Given the description of an element on the screen output the (x, y) to click on. 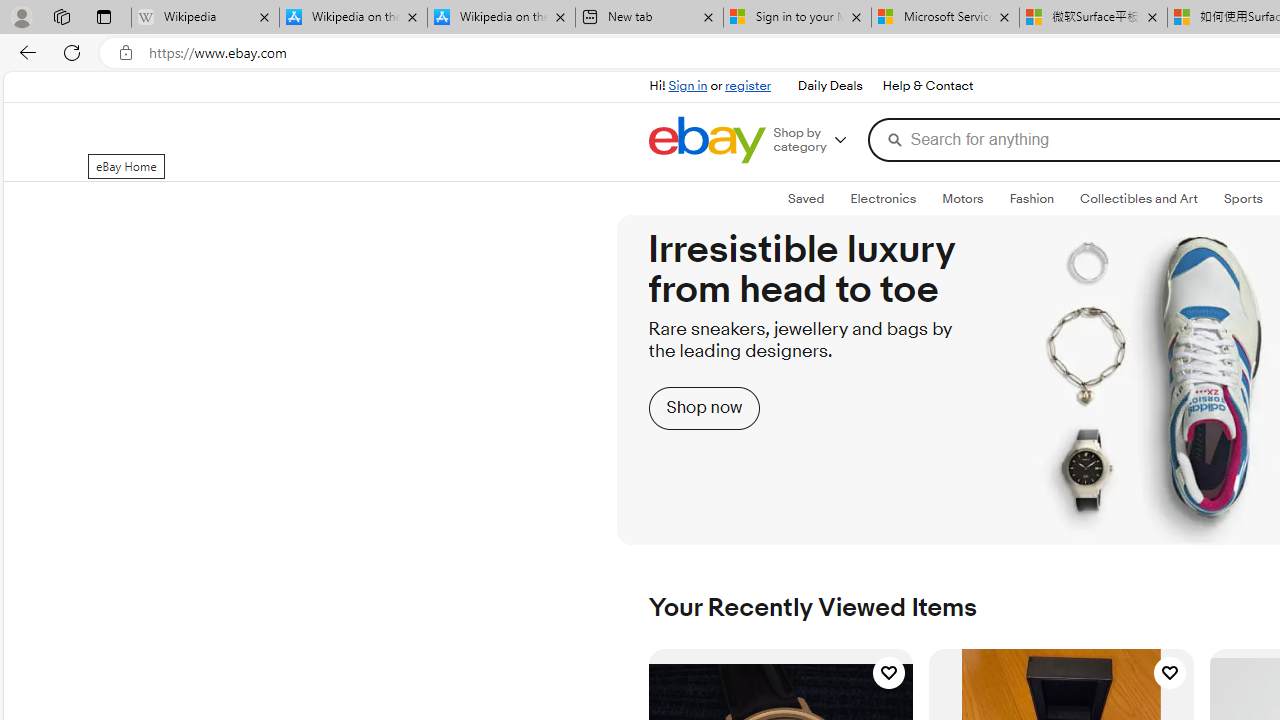
eBay Home (706, 139)
Daily Deals (829, 86)
register (747, 85)
Motors (963, 198)
Sign in (687, 85)
MotorsExpand: Motors (963, 199)
Sports (1243, 198)
SportsExpand: Sports (1243, 199)
Microsoft Services Agreement (944, 17)
FashionExpand: Fashion (1031, 199)
eBay Home (706, 139)
Sign in to your Microsoft account (797, 17)
Daily Deals (829, 85)
